Given the description of an element on the screen output the (x, y) to click on. 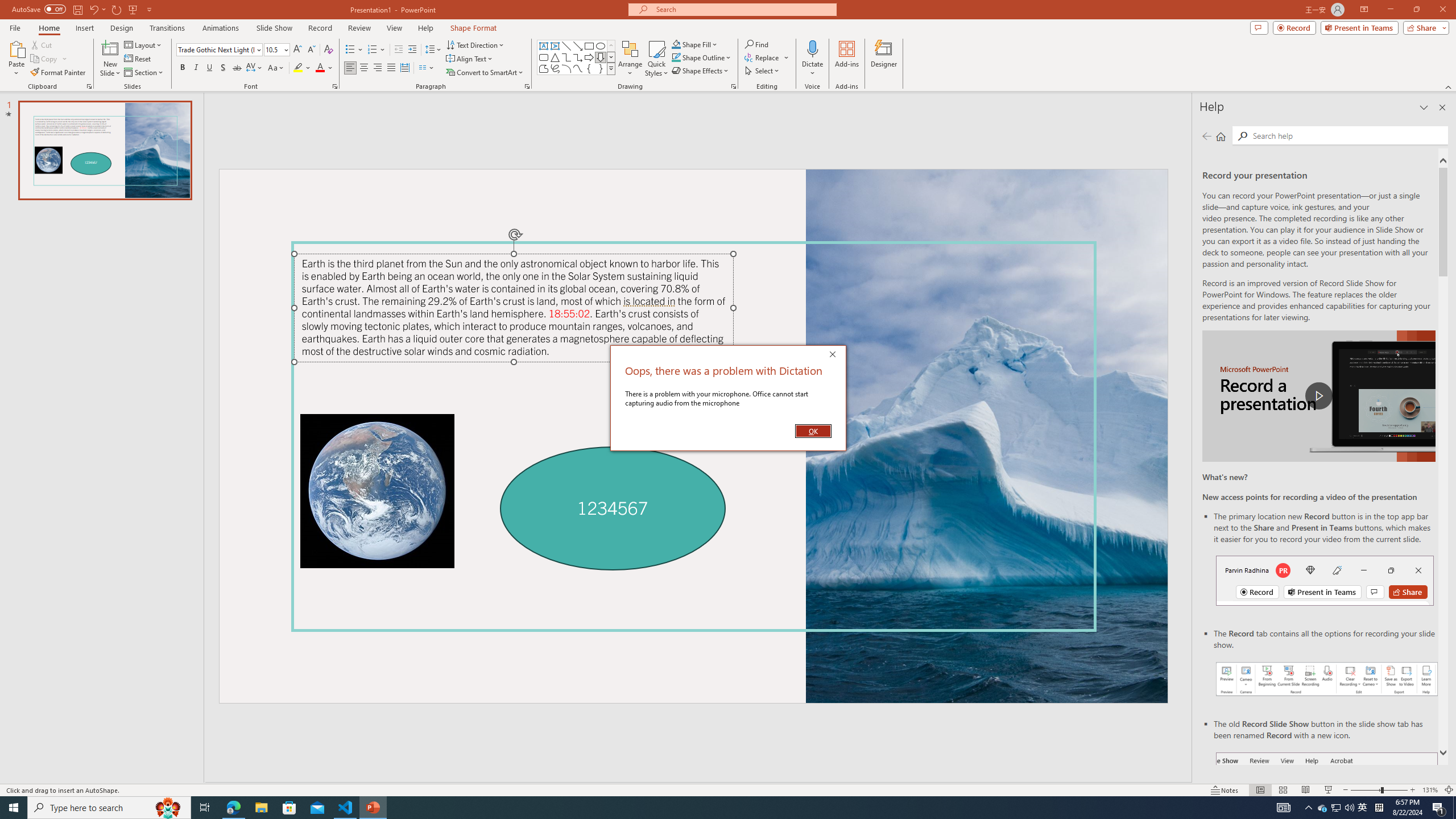
Record button in top bar (1324, 580)
Shape Format (473, 28)
